Given the description of an element on the screen output the (x, y) to click on. 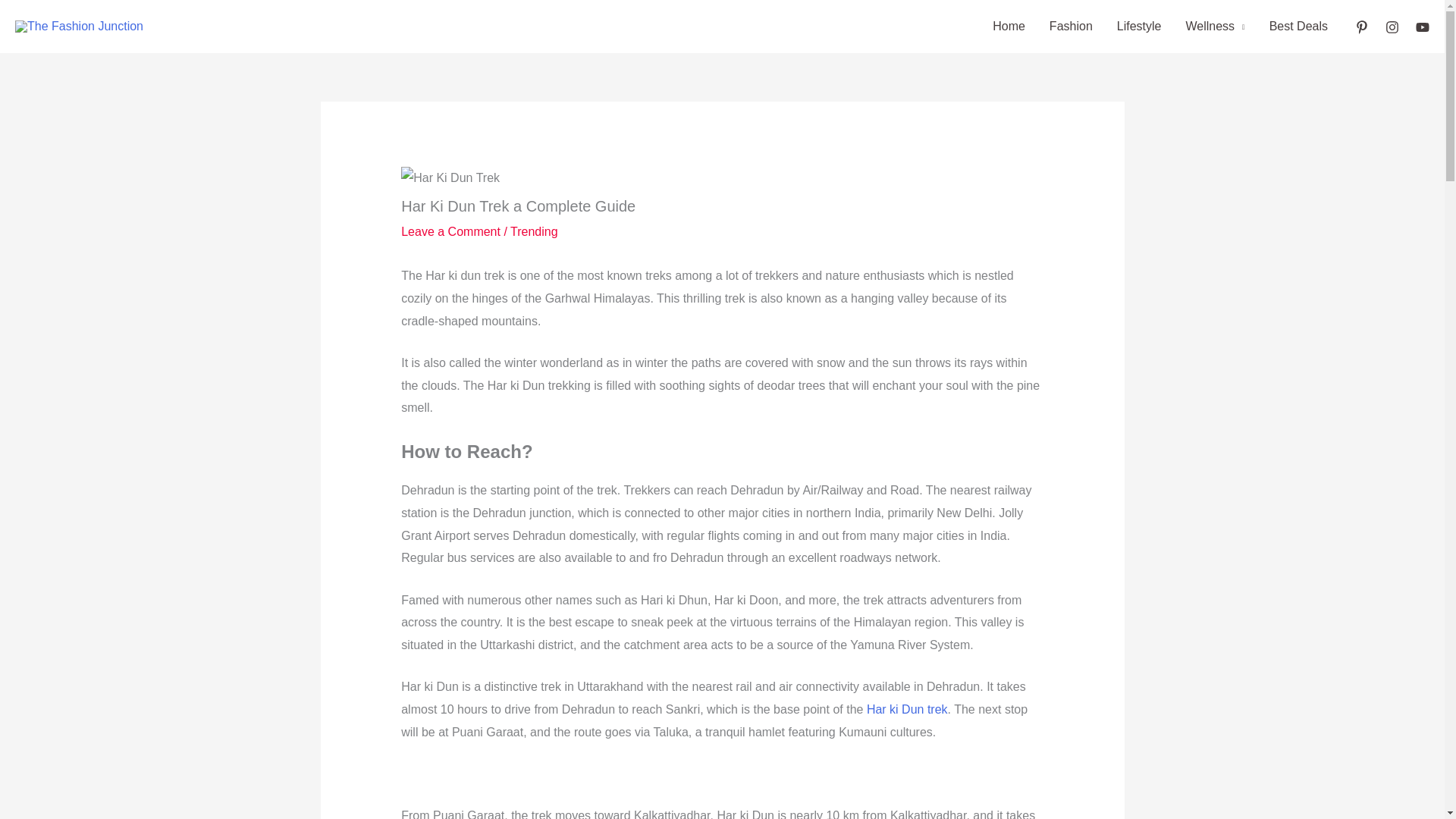
Har Ki Dun Trek a Complete Guide 2 (450, 178)
Har ki Dun trek (906, 708)
Leave a Comment (450, 231)
Trending (534, 231)
Fashion (1070, 26)
Lifestyle (1139, 26)
Home (1007, 26)
Best Deals (1298, 26)
Wellness (1214, 26)
